Given the description of an element on the screen output the (x, y) to click on. 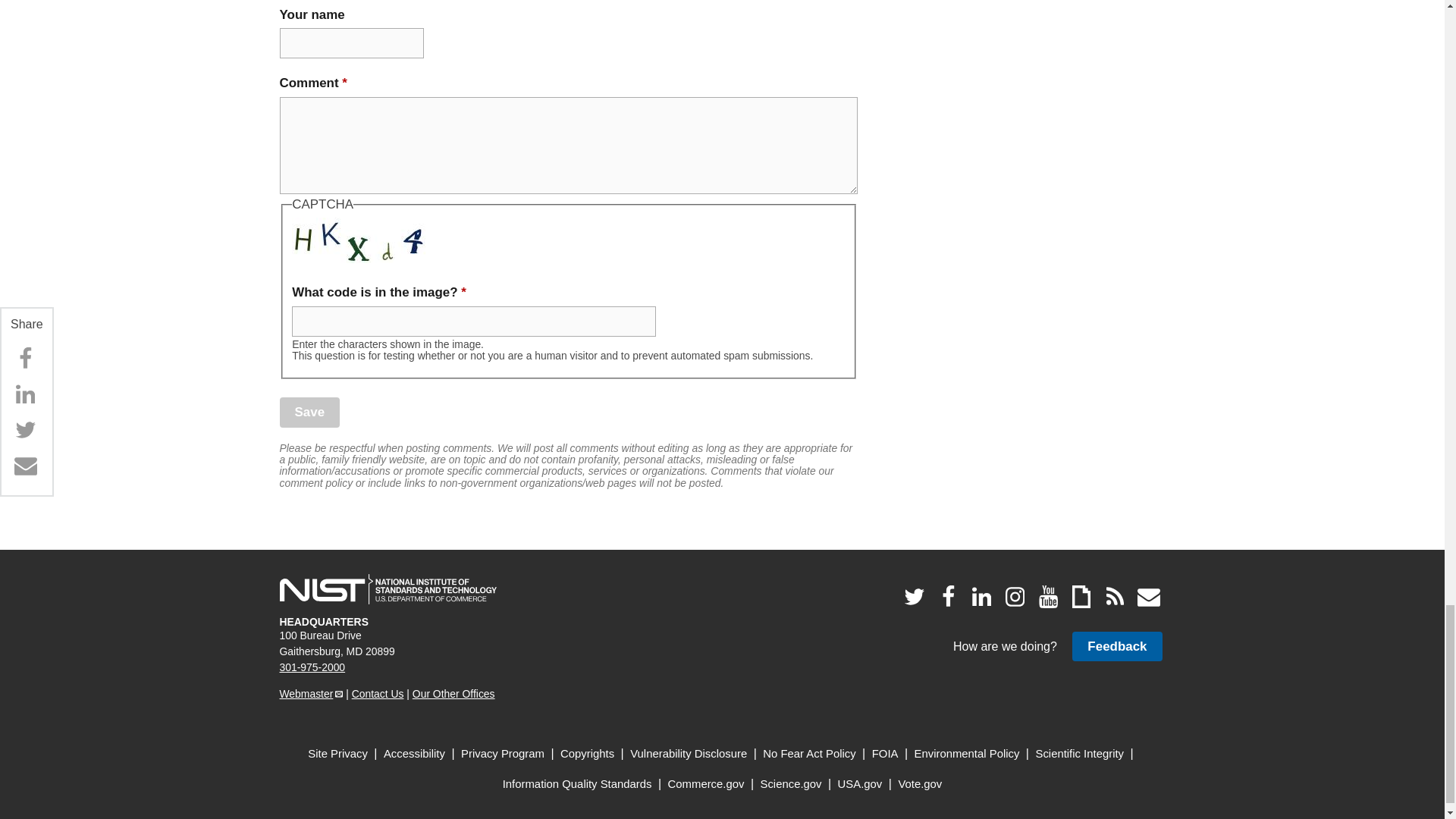
Save (309, 411)
Save (309, 411)
Provide feedback (1116, 645)
Image CAPTCHA (360, 239)
National Institute of Standards and Technology (387, 589)
